Given the description of an element on the screen output the (x, y) to click on. 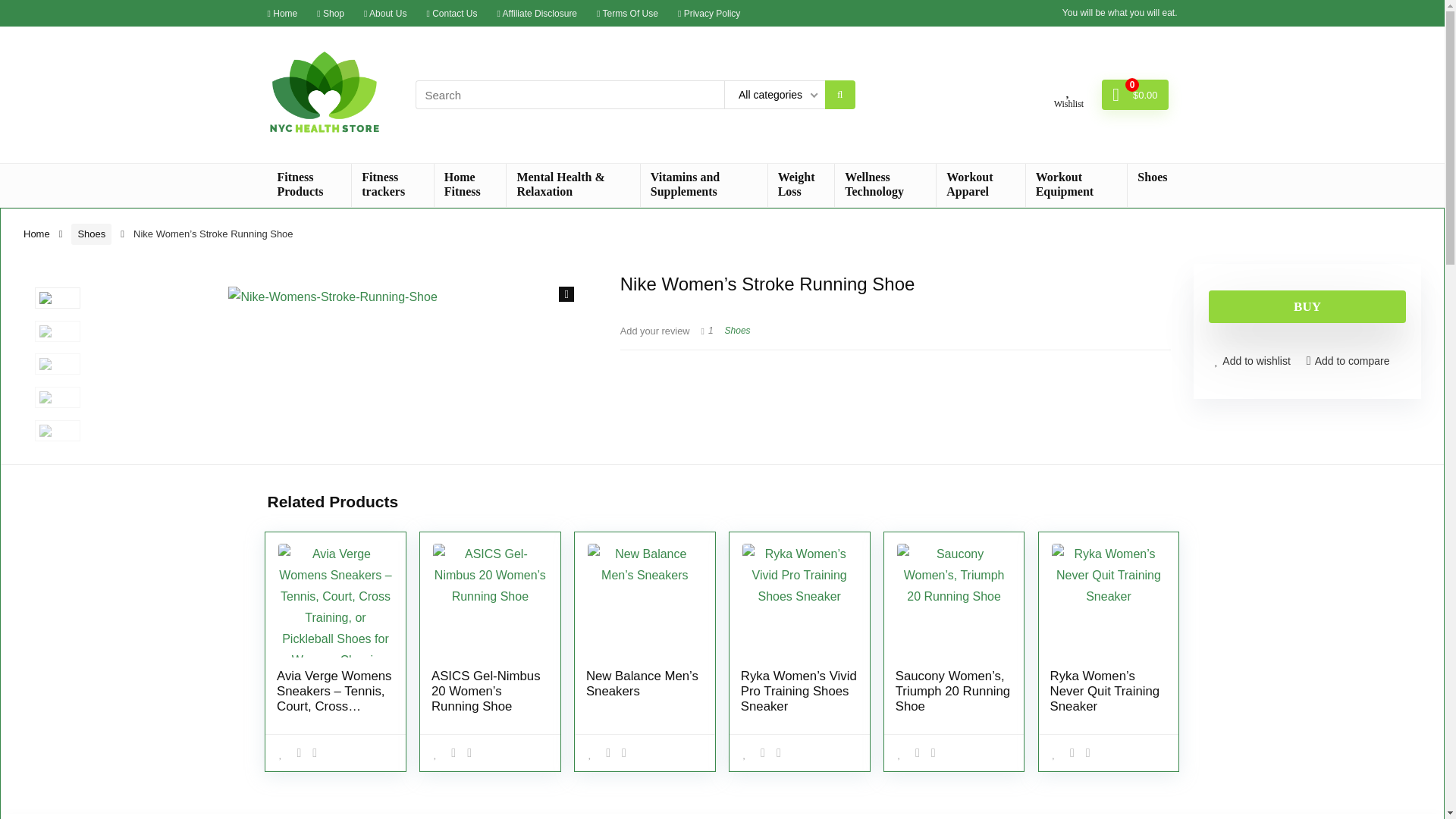
About Us (385, 12)
Contact Us (451, 12)
Shoes (1151, 177)
Nike-Womens-Stroke-Running-Shoe (332, 360)
Add your review (655, 330)
Vitamins and Supplements (703, 185)
Weight Loss (801, 185)
Terms Of Use (627, 12)
Wellness Technology (885, 185)
Affiliate Disclosure (537, 12)
Workout Apparel (980, 185)
Home Fitness (469, 185)
Workout Equipment (1076, 185)
View all posts in Shoes (738, 330)
Home (281, 12)
